Given the description of an element on the screen output the (x, y) to click on. 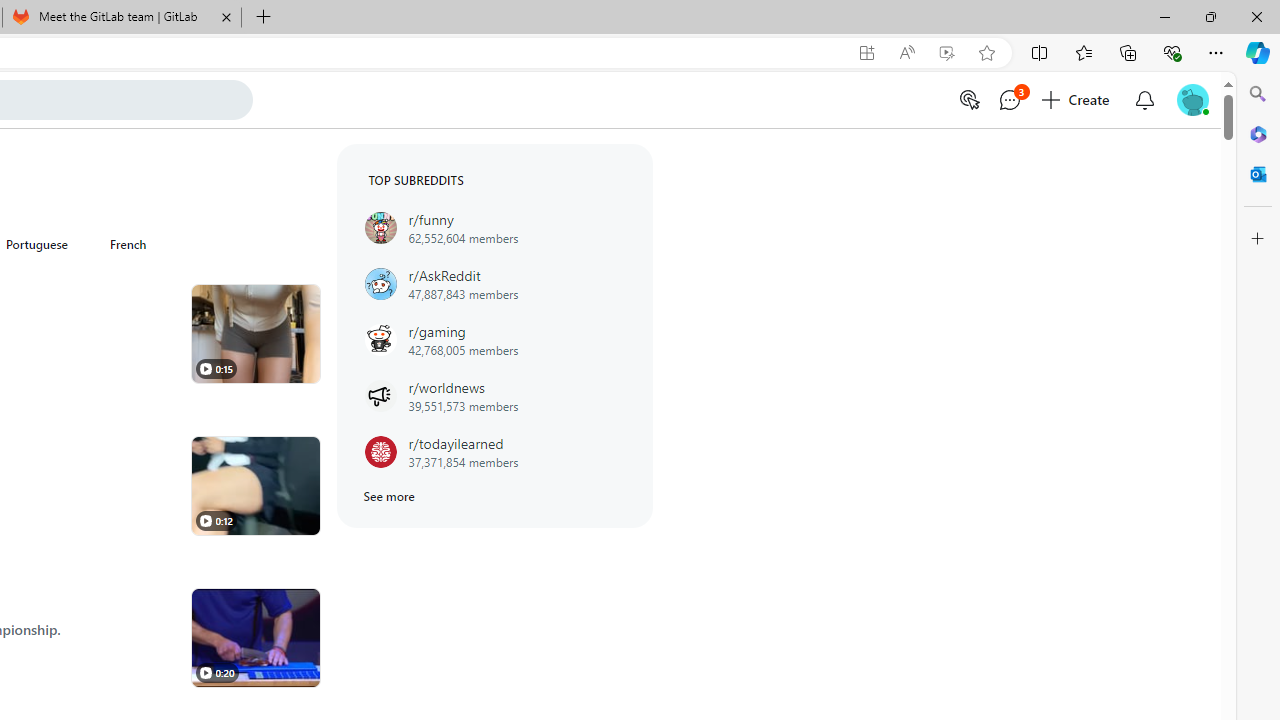
r/AskReddit icon (379, 283)
r/AskReddit 47,887,843 members (494, 283)
r/todayilearned icon (379, 452)
Open chat (1009, 99)
Create Create post (1077, 99)
Class: h-[12px] w-[12px] shrink-0 (205, 672)
